Given the description of an element on the screen output the (x, y) to click on. 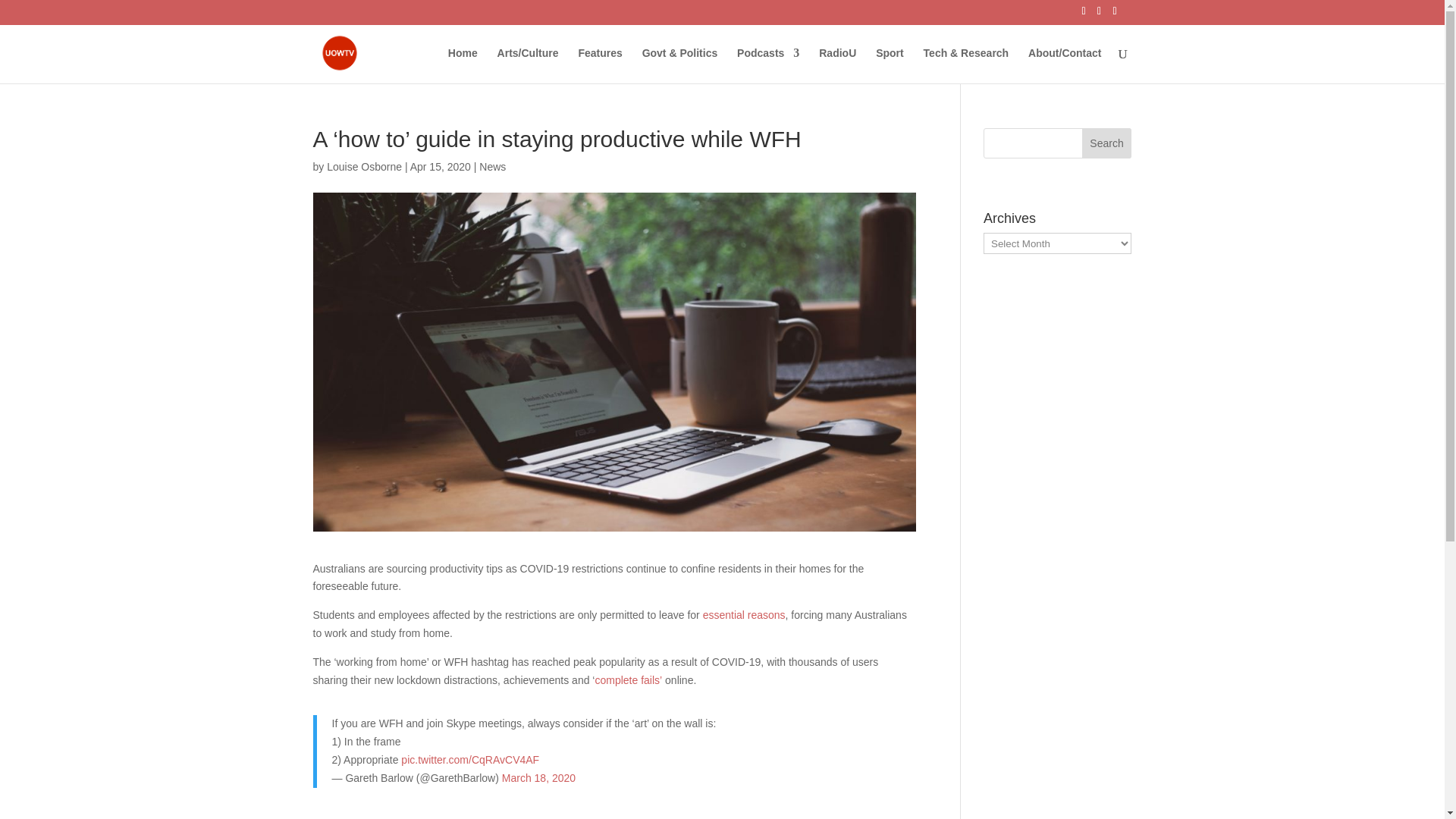
Podcasts (767, 65)
March 18, 2020 (538, 777)
Louise Osborne (363, 166)
essential reasons (744, 614)
News (492, 166)
Search (1106, 142)
Features (599, 65)
RadioU (837, 65)
Search (1106, 142)
Posts by Louise Osborne (363, 166)
